Given the description of an element on the screen output the (x, y) to click on. 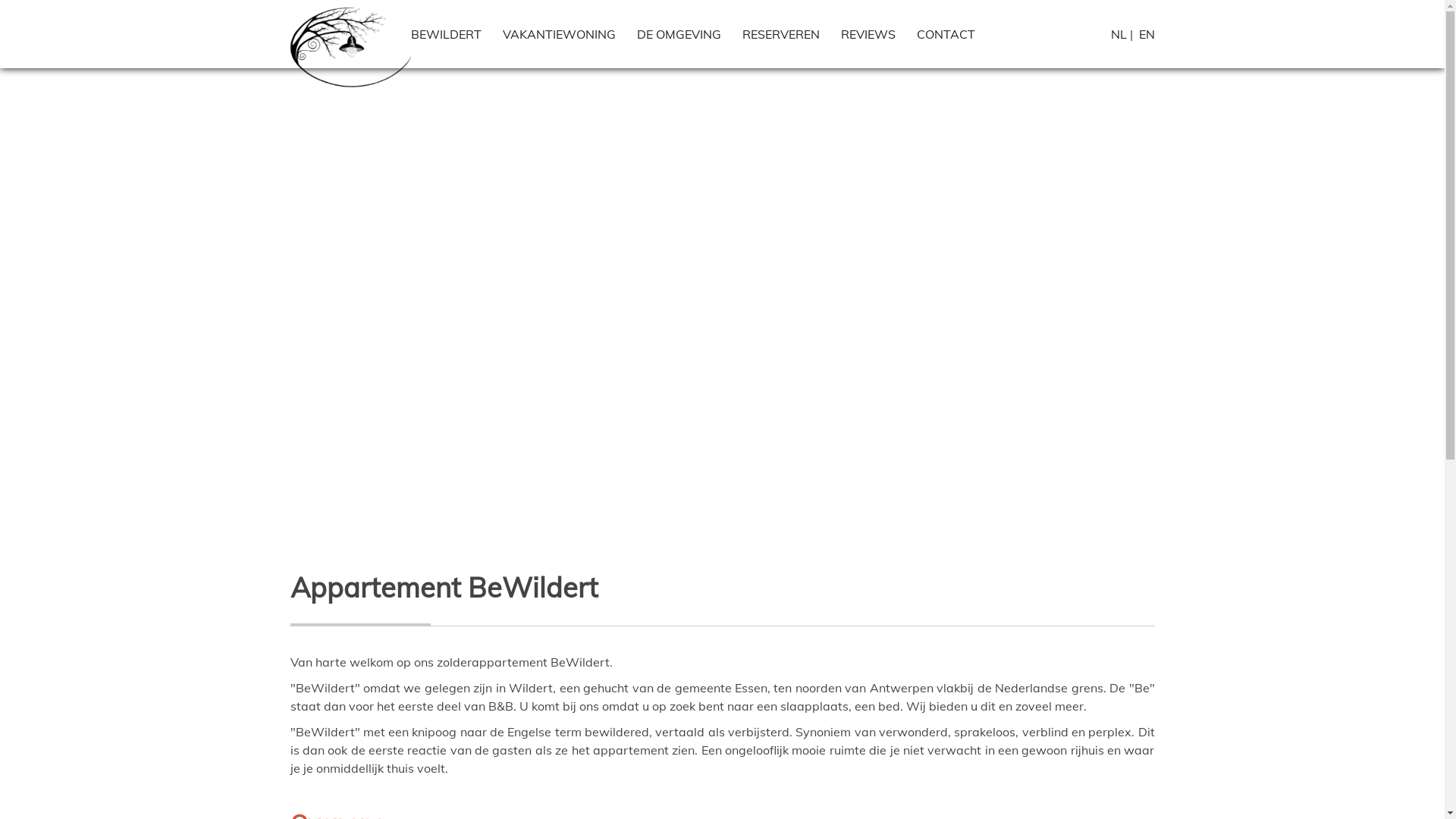
RESERVEREN Element type: text (780, 34)
BEWILDERT Element type: text (446, 34)
VAKANTIEWONING Element type: text (558, 34)
REVIEWS Element type: text (867, 34)
NL Element type: text (1118, 33)
CONTACT Element type: text (945, 34)
DE OMGEVING Element type: text (678, 34)
EN Element type: text (1146, 33)
